Given the description of an element on the screen output the (x, y) to click on. 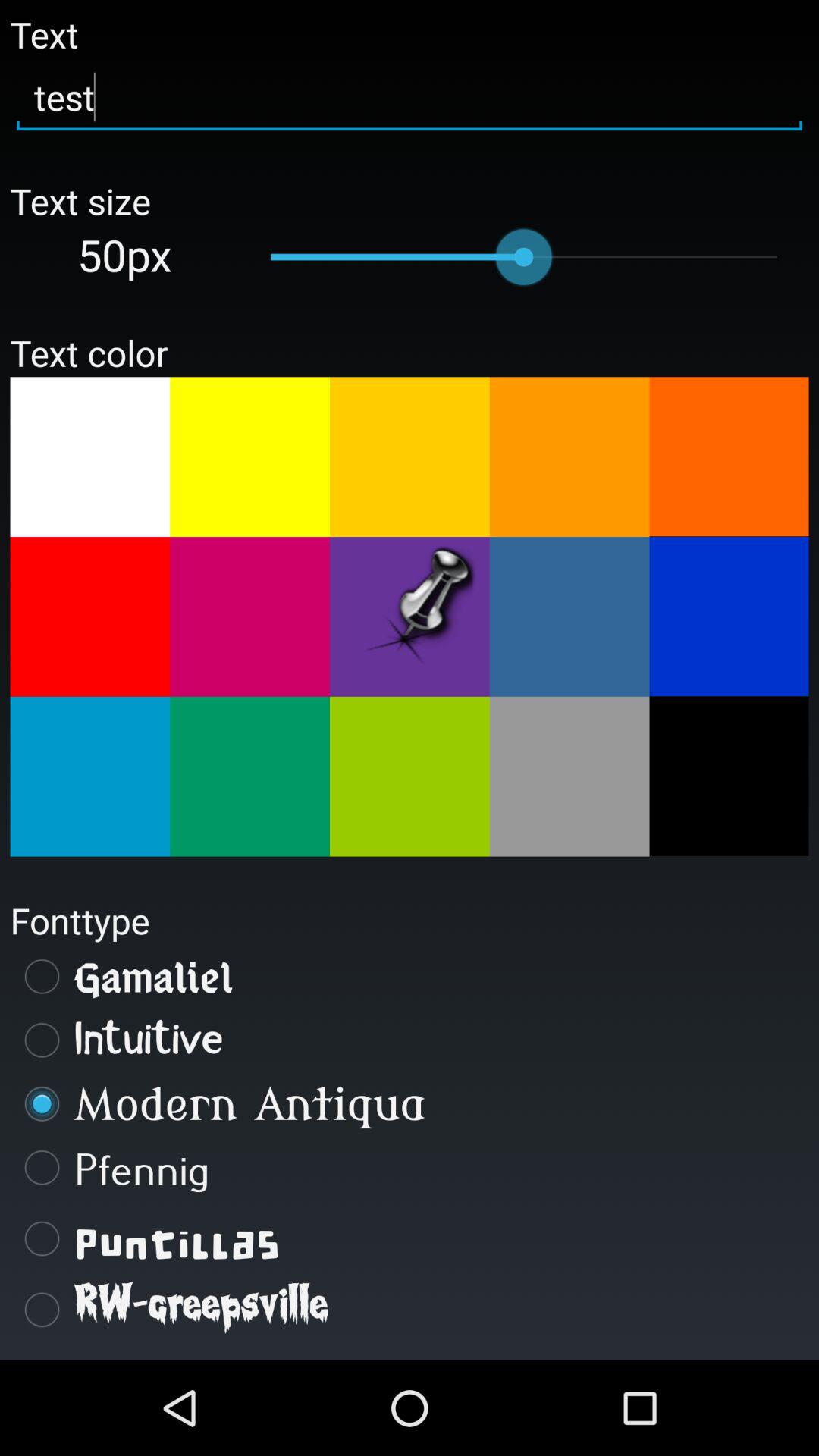
change text color to yellow (249, 456)
